Given the description of an element on the screen output the (x, y) to click on. 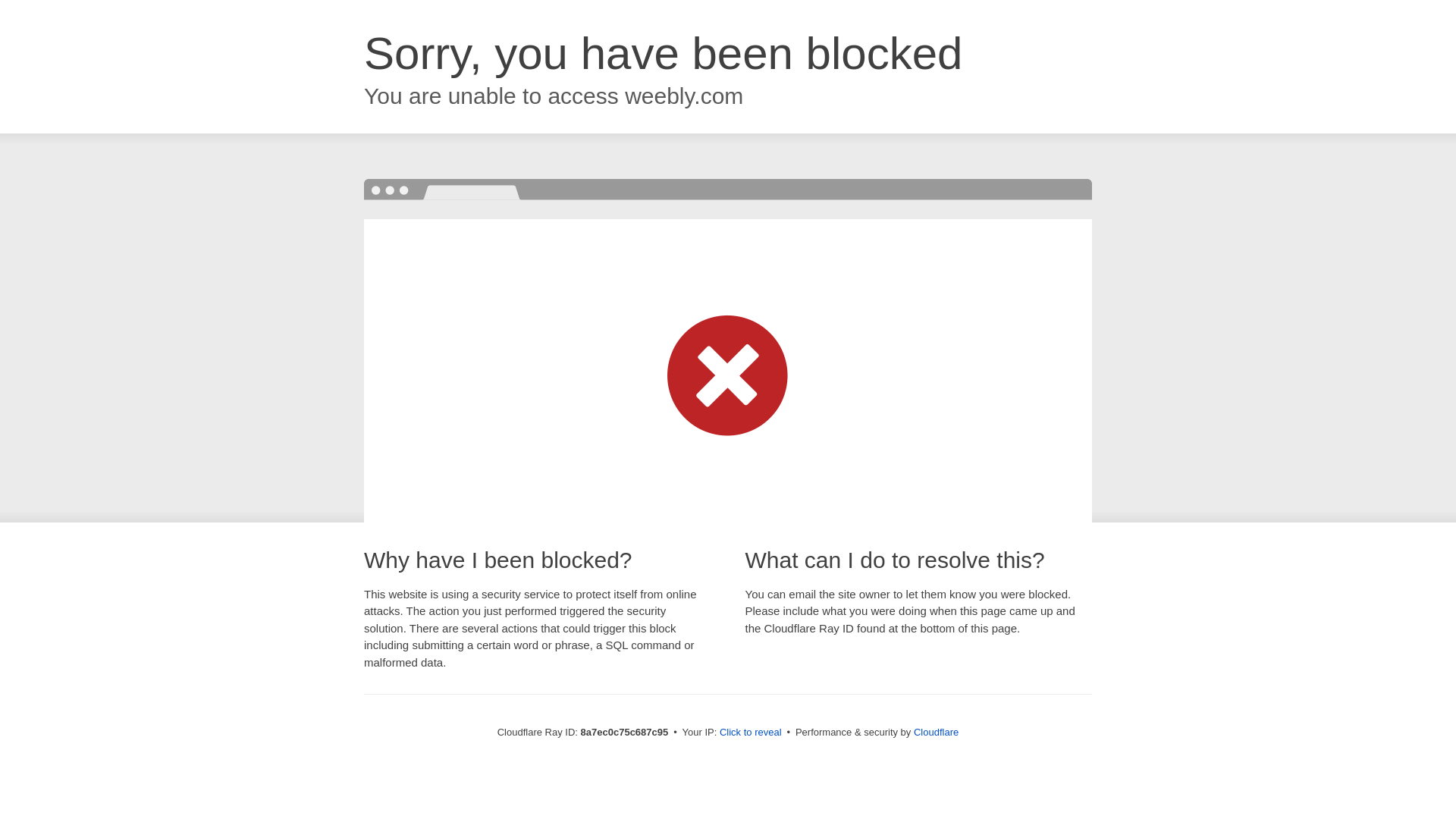
Cloudflare (936, 731)
Click to reveal (750, 732)
